Given the description of an element on the screen output the (x, y) to click on. 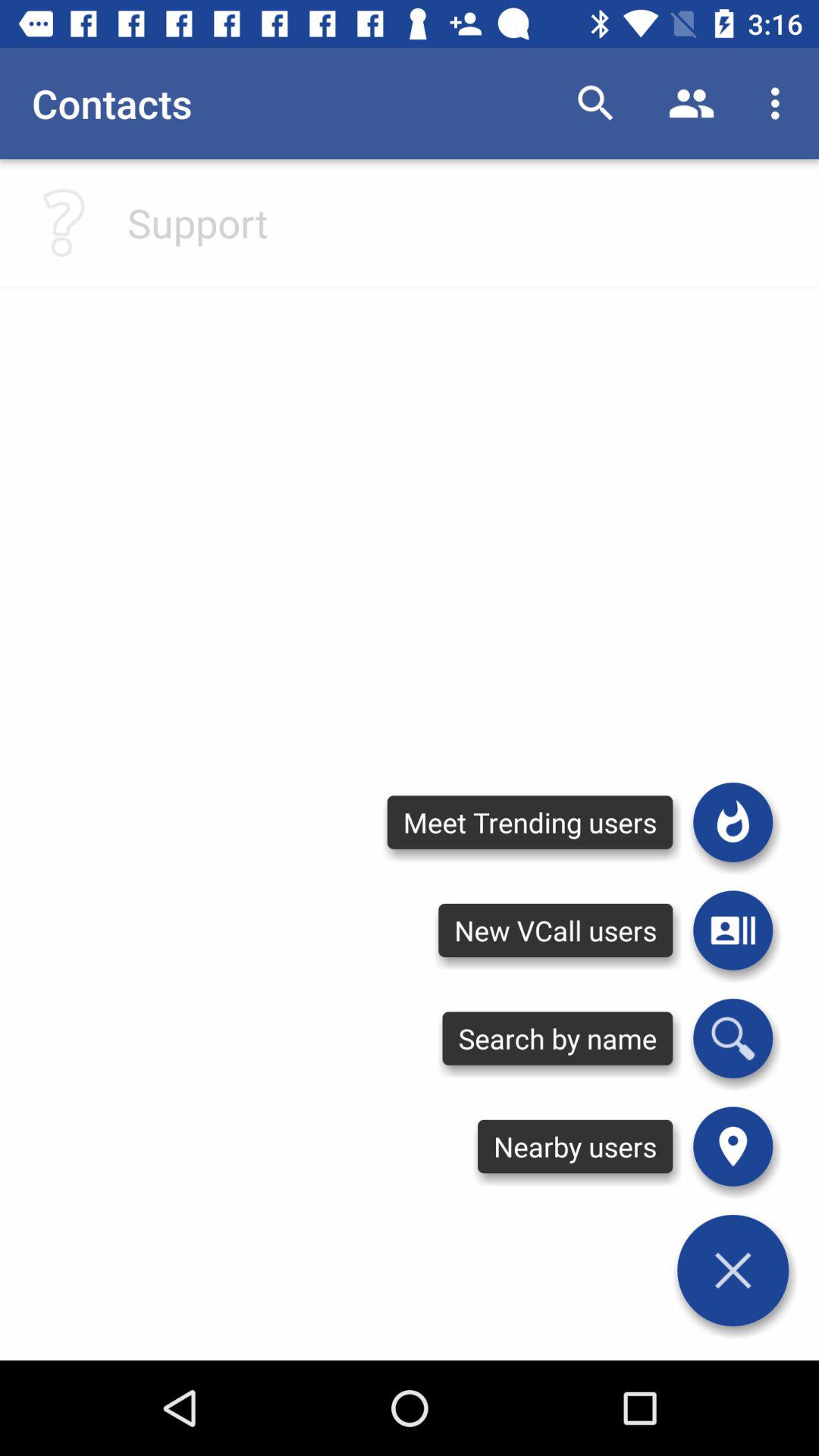
search by name (733, 1038)
